Given the description of an element on the screen output the (x, y) to click on. 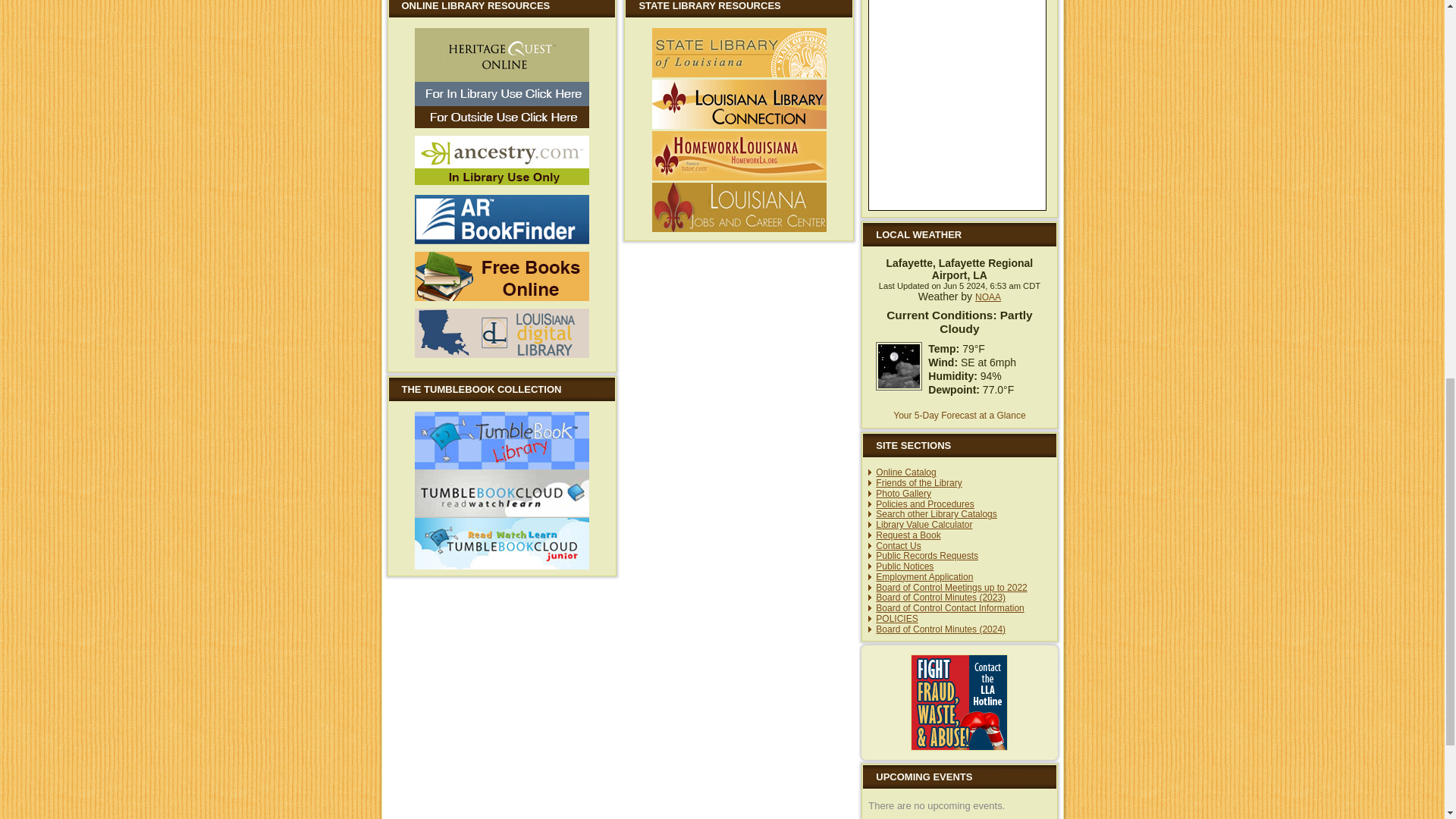
NOAA's National Weather Service (988, 296)
